Given the description of an element on the screen output the (x, y) to click on. 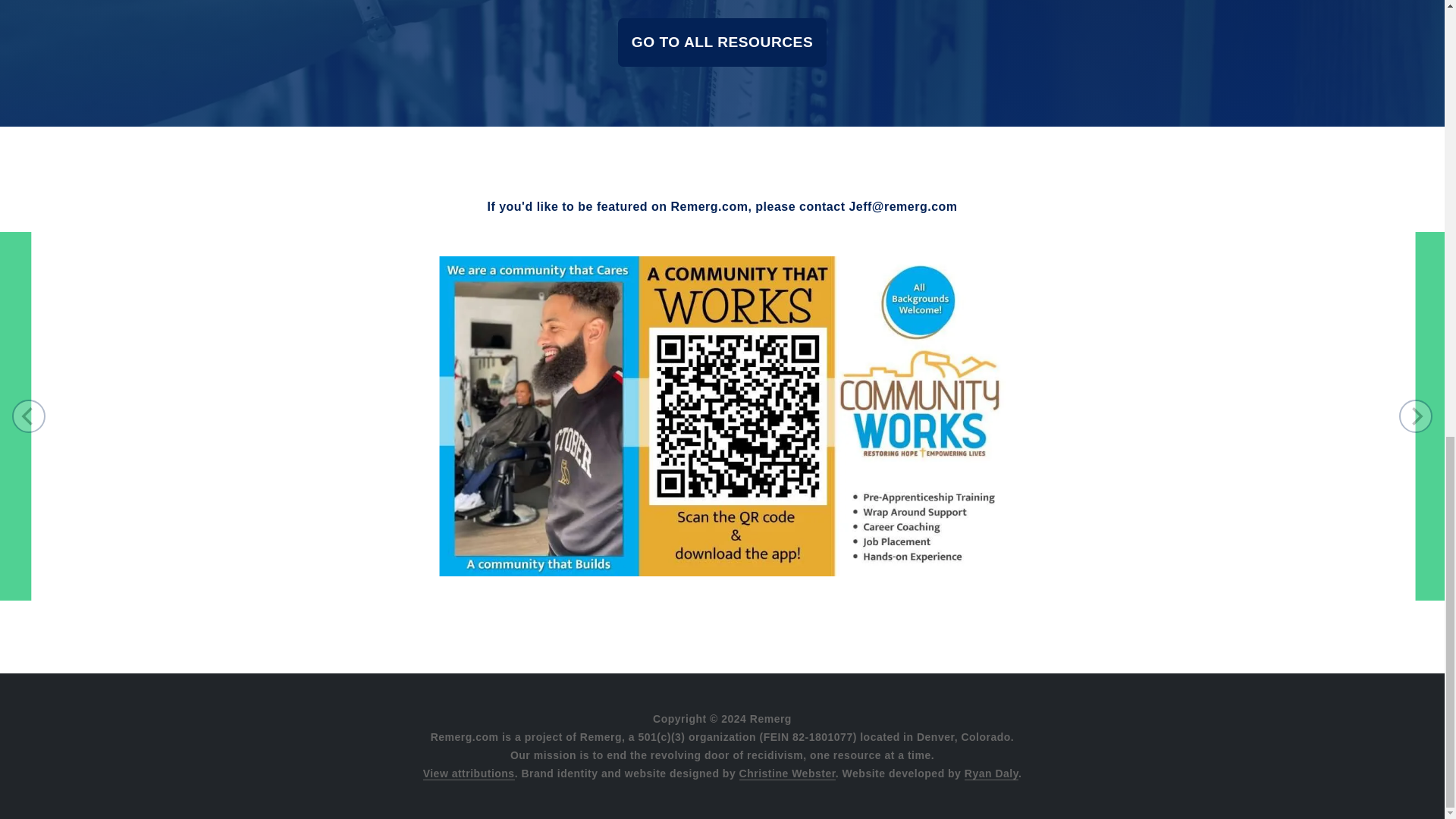
View attributions (469, 773)
Ryan Daly (990, 773)
Christine Webster (787, 773)
GO TO ALL RESOURCES (722, 42)
